Given the description of an element on the screen output the (x, y) to click on. 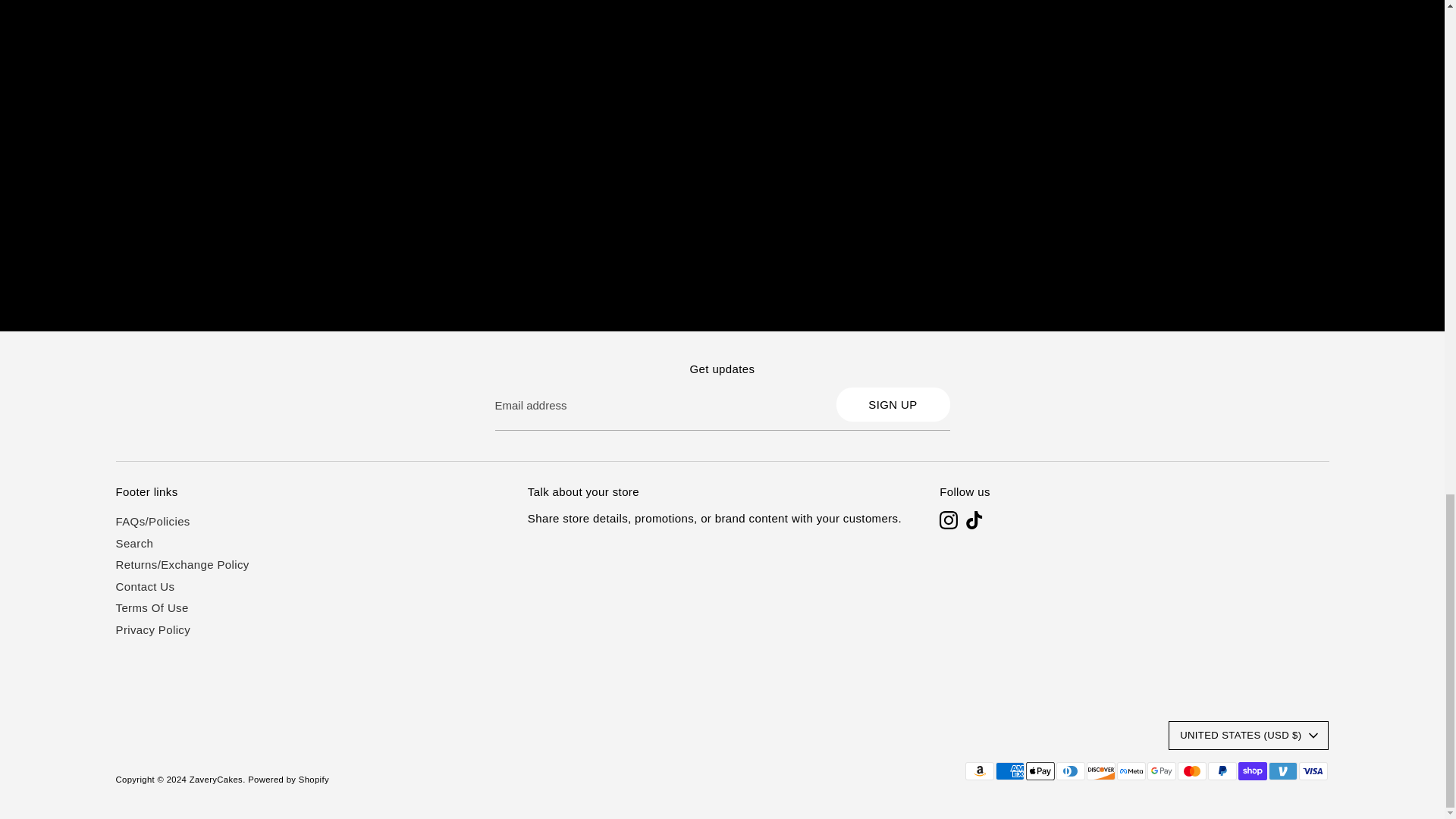
Shop Pay (1251, 771)
Meta Pay (1130, 771)
Google Pay (1160, 771)
Apple Pay (1039, 771)
Amazon (977, 771)
American Express (1008, 771)
PayPal (1221, 771)
Diners Club (1069, 771)
Mastercard (1190, 771)
Discover (1100, 771)
